Given the description of an element on the screen output the (x, y) to click on. 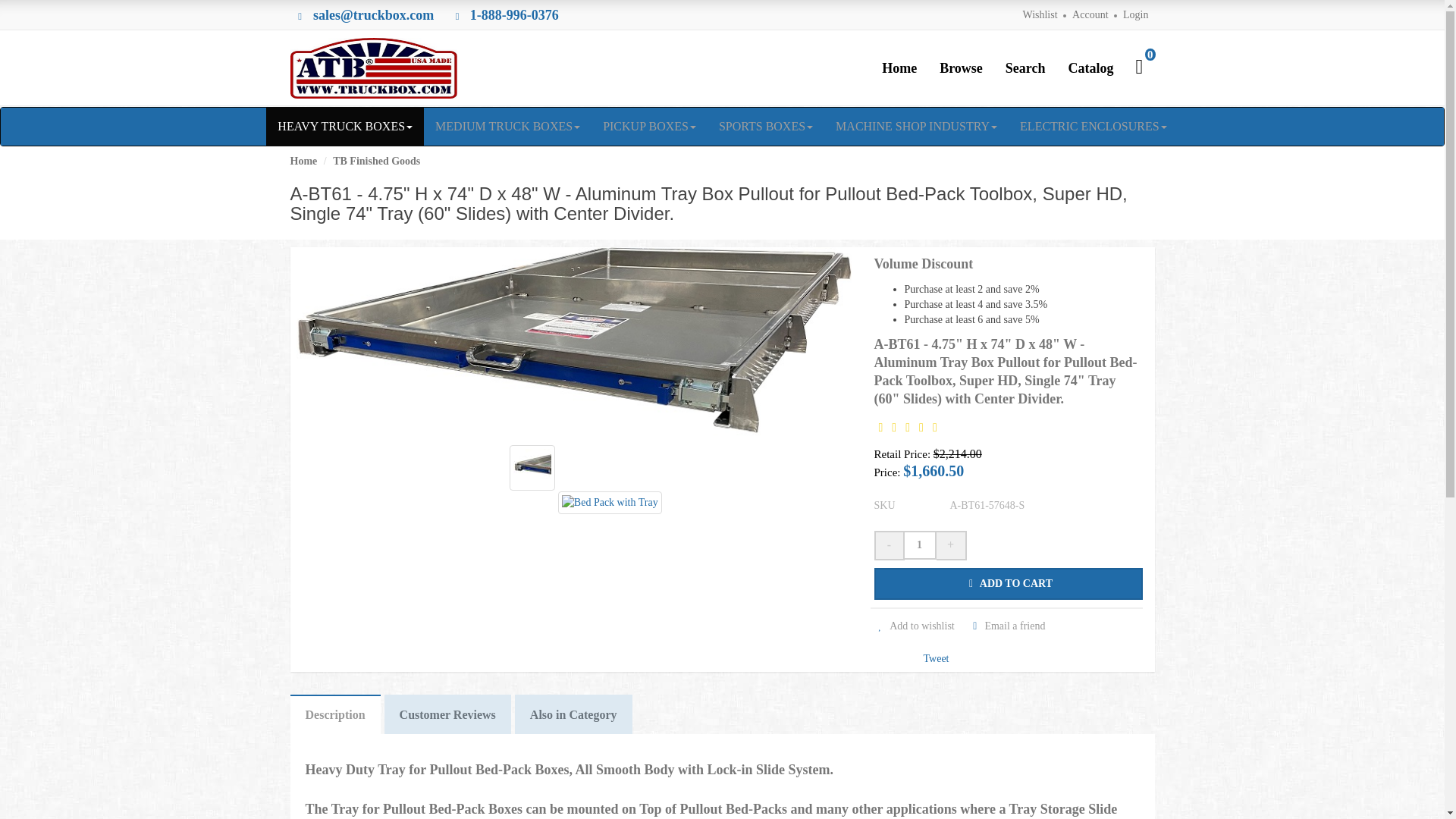
Search (1025, 67)
376 (548, 16)
Catalog (1091, 67)
MEDIUM TRUCK BOXES (507, 126)
Wishlist (1039, 14)
Login (1135, 14)
HEAVY TRUCK BOXES (344, 126)
1-888-996-0 (504, 16)
1 (919, 544)
Account (1089, 14)
